Given the description of an element on the screen output the (x, y) to click on. 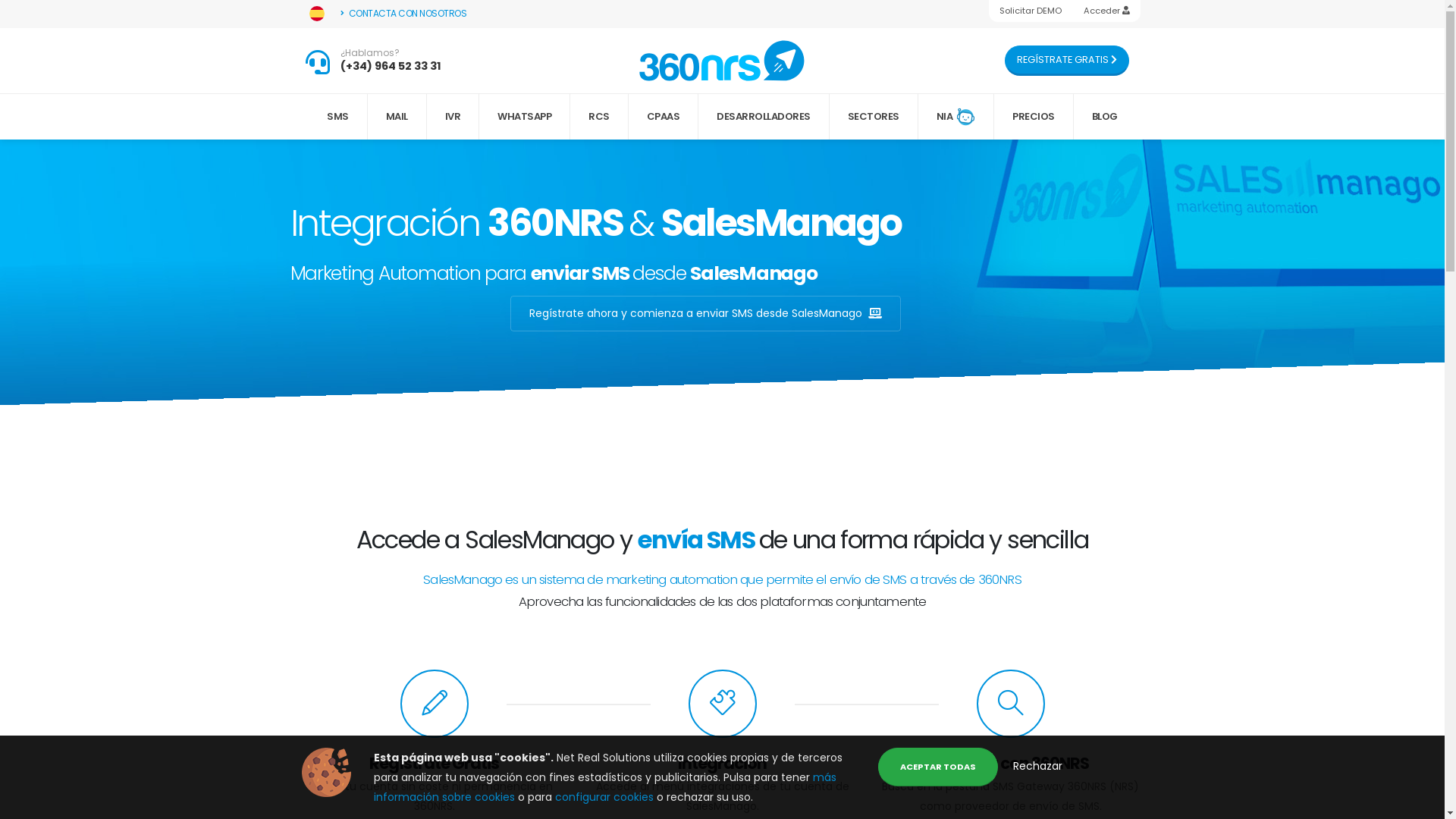
PRECIOS Element type: text (1033, 116)
SMS Element type: text (337, 116)
Acceder Element type: text (1105, 10)
configurar cookies Element type: text (605, 796)
DESARROLLADORES Element type: text (763, 116)
(+34) 964 52 33 31 Element type: text (390, 65)
SECTORES Element type: text (873, 116)
BLOG Element type: text (1104, 116)
CONTACTA CON NOSOTROS Element type: text (403, 13)
ACEPTAR TODAS Element type: text (937, 766)
Rechazar Element type: text (1037, 765)
Solicitar DEMO Element type: text (1030, 10)
WHATSAPP Element type: text (524, 116)
RCS Element type: text (599, 116)
IVR Element type: text (453, 116)
MAIL Element type: text (396, 116)
CPAAS Element type: text (663, 116)
NIA Element type: text (956, 116)
